Given the description of an element on the screen output the (x, y) to click on. 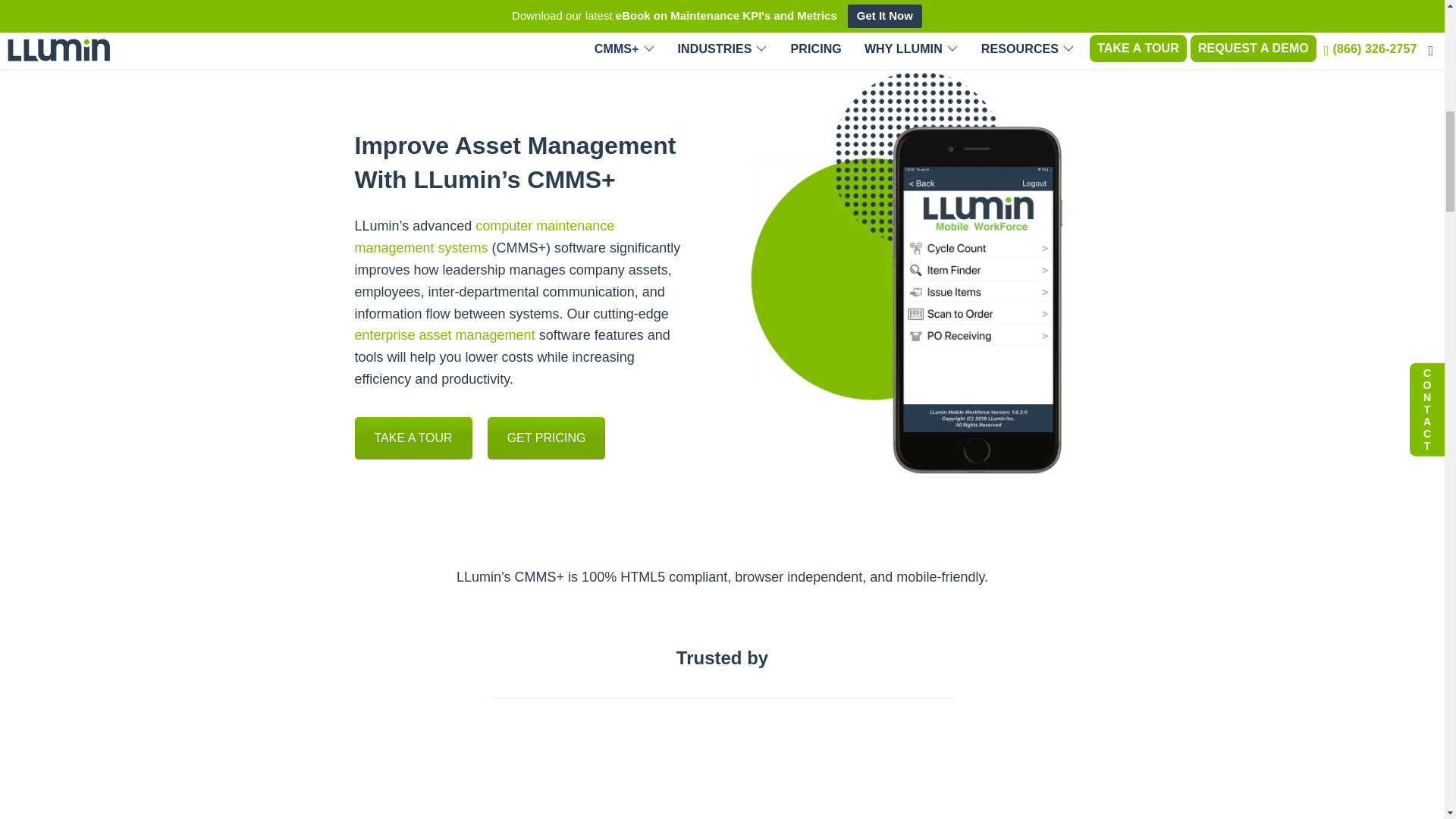
GET PRICING (546, 437)
a2-milk-logo (671, 775)
CAT-logo (971, 775)
logo-PureField (373, 773)
logo-sunnyd (473, 775)
Take a Tour (413, 437)
tencate-logo-vector (1070, 770)
Harvest-Hill-Logo (572, 774)
Landoll logo (871, 775)
